Given the description of an element on the screen output the (x, y) to click on. 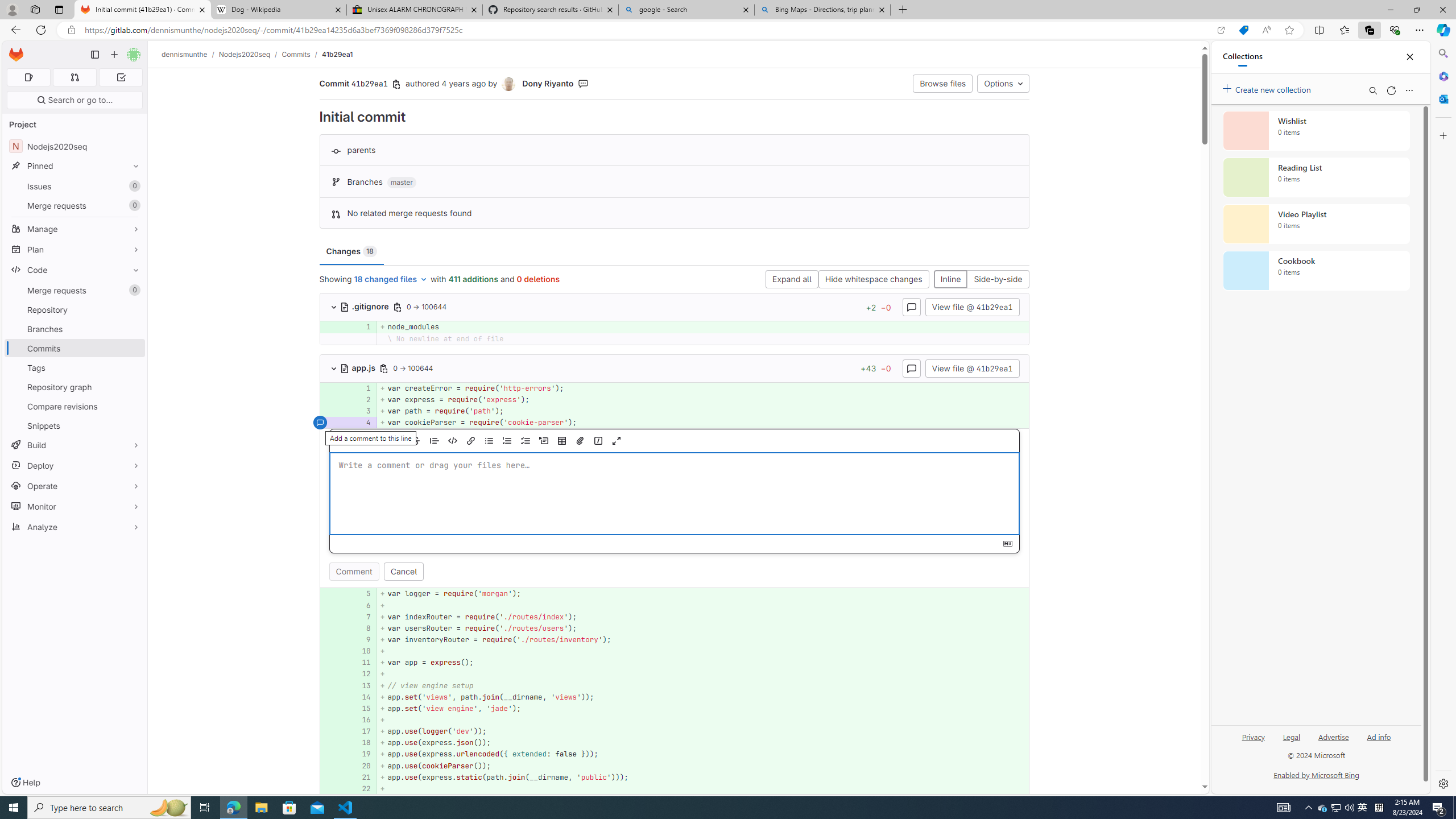
Primary navigation sidebar (94, 54)
Browse files (942, 83)
Repository (74, 309)
